Given the description of an element on the screen output the (x, y) to click on. 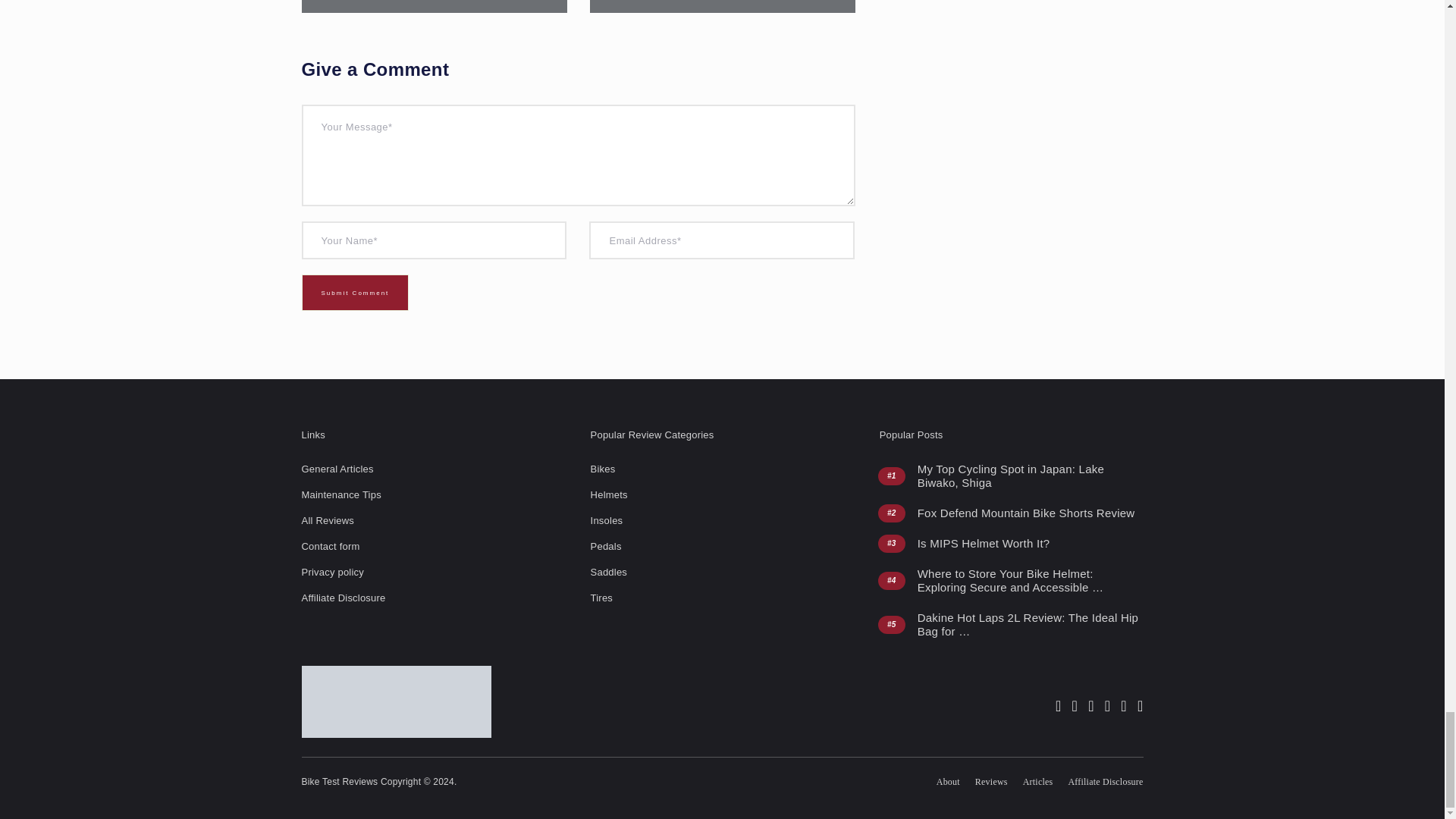
Submit Comment (355, 292)
SBG-32 Bike Grease (722, 6)
